Given the description of an element on the screen output the (x, y) to click on. 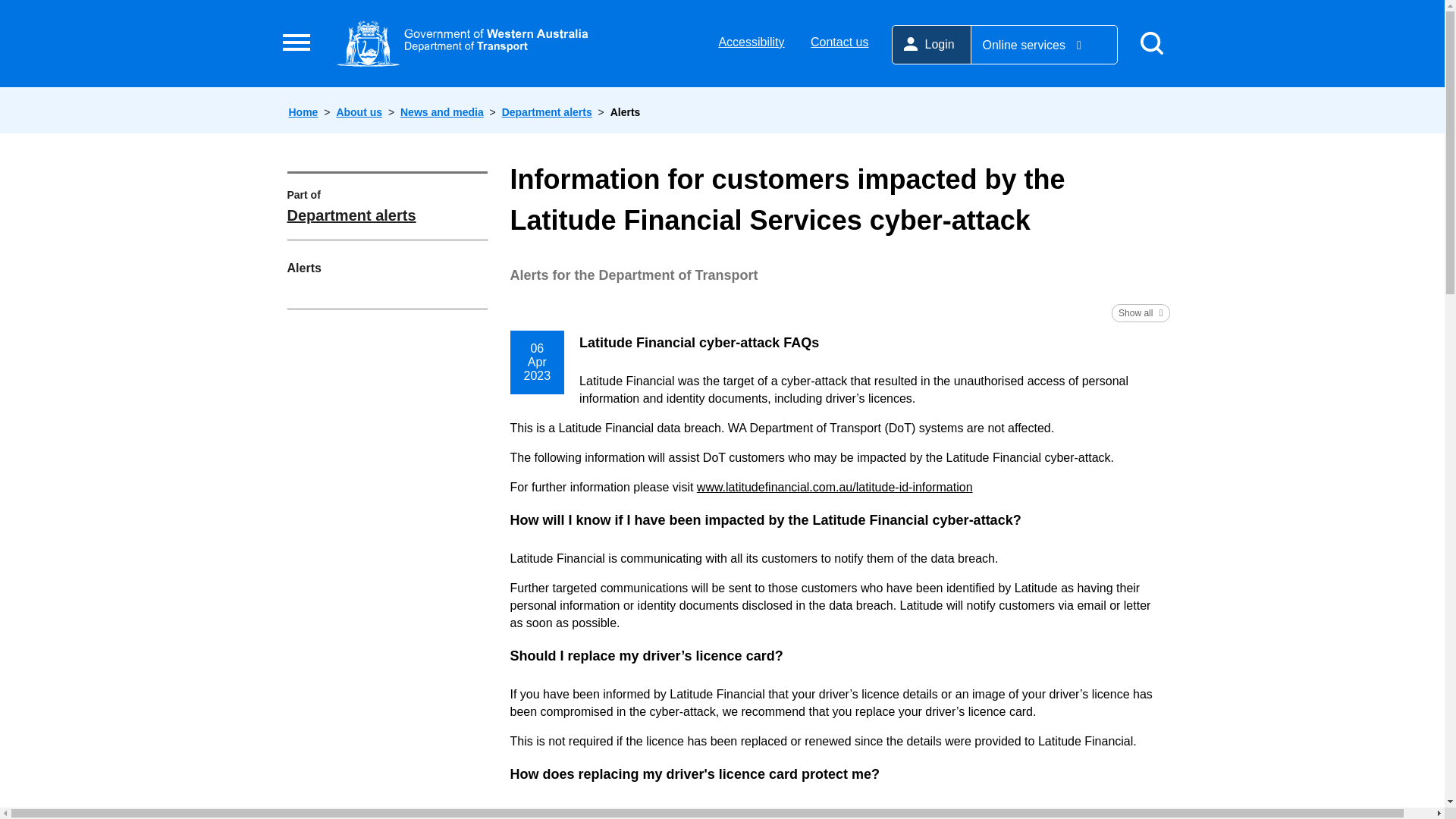
Contact us (838, 42)
Accessibility (750, 42)
Open search menu (1150, 43)
Open online services menu (1043, 44)
Department of Transport (462, 43)
Online services (1043, 44)
